Given the description of an element on the screen output the (x, y) to click on. 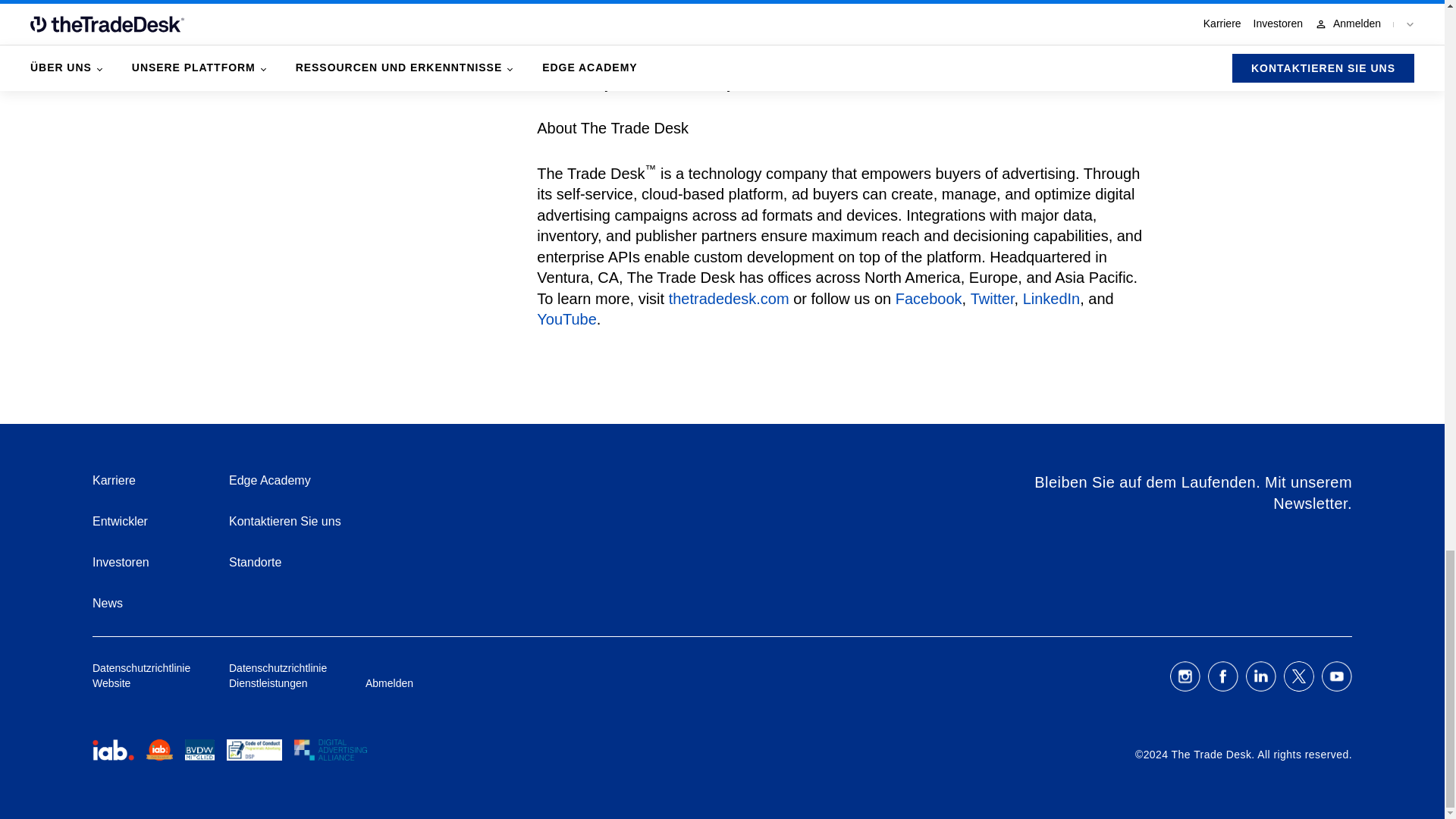
YouTube (825, 329)
Twitter (992, 298)
Facebook (928, 298)
LinkedIn (1051, 298)
thetradedesk.com (728, 298)
